Given the description of an element on the screen output the (x, y) to click on. 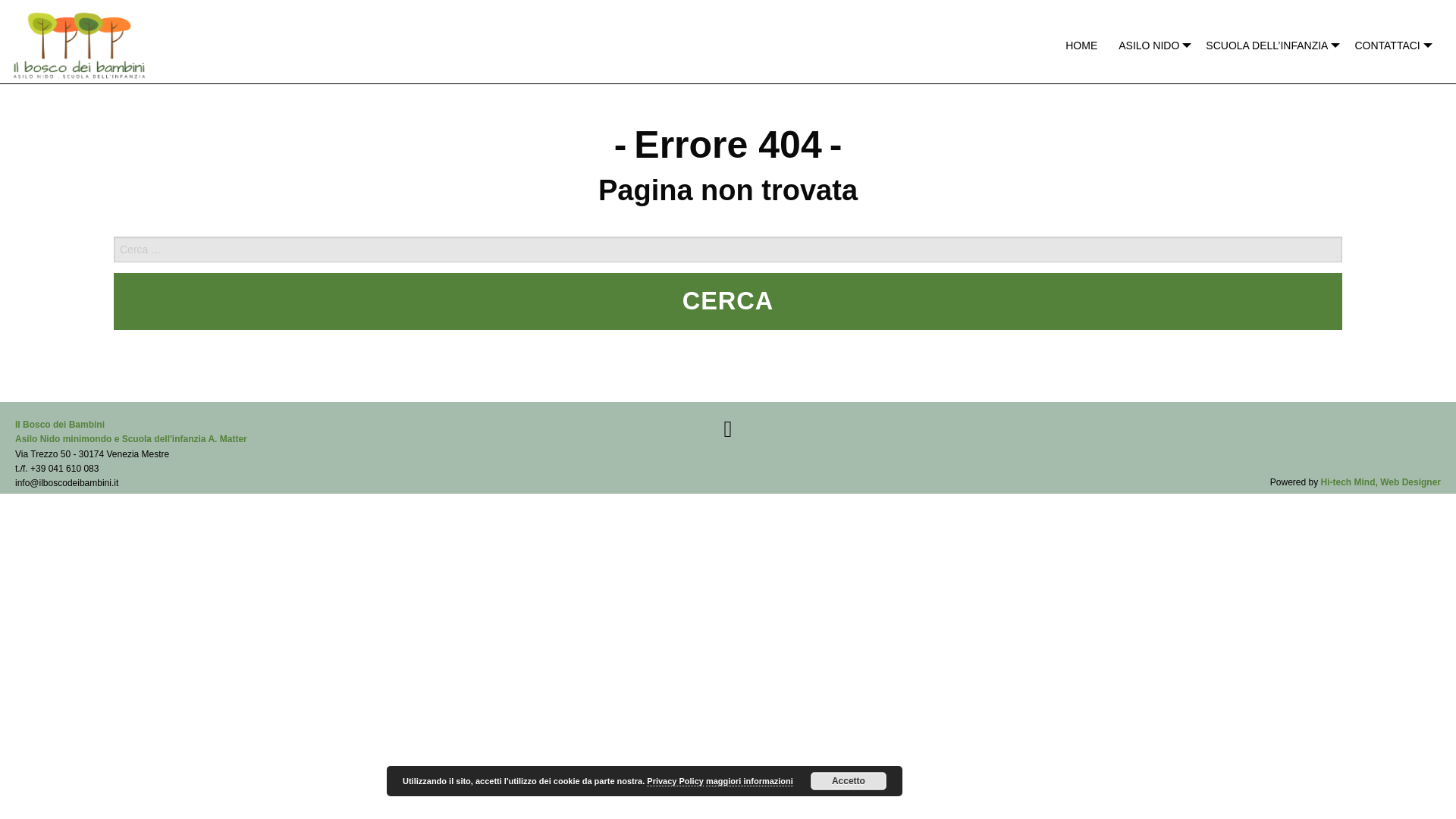
Cerca (727, 301)
Hi-tech Mind, Web Designer (1380, 481)
HOME (1081, 45)
ASILO NIDO (1151, 45)
Il Bosco Dei Bmbini (130, 431)
Privacy Policy (674, 781)
Cerca (727, 301)
Privacy Policy (674, 781)
Cerca (727, 301)
Il Bosco Dei Bmbini (727, 429)
CONTATTACI (1389, 45)
Il Bosco Dei bambini (79, 40)
Hi-tech Mind, Web Designer (1380, 481)
